Given the description of an element on the screen output the (x, y) to click on. 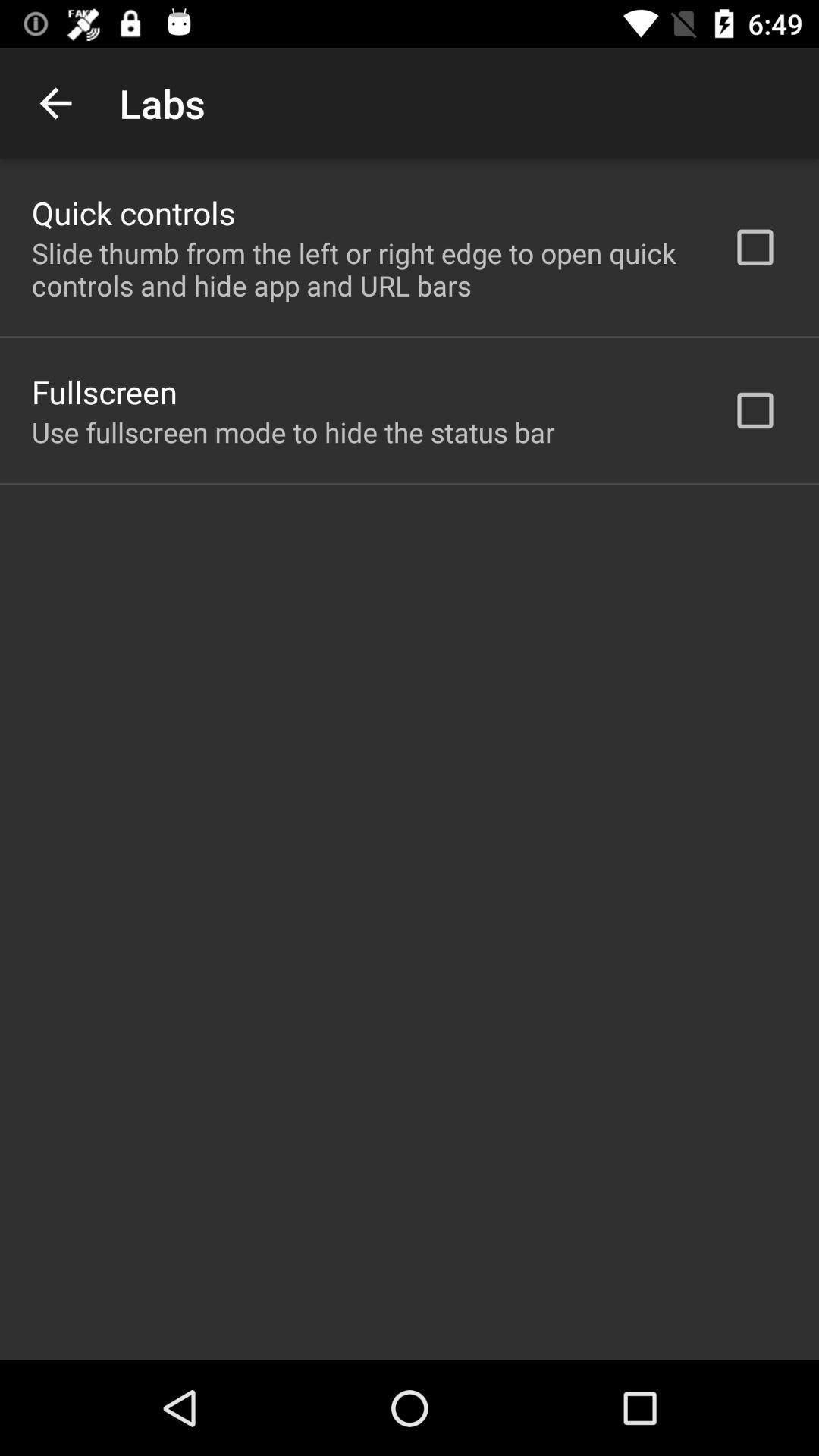
turn off the app above the fullscreen icon (361, 269)
